Given the description of an element on the screen output the (x, y) to click on. 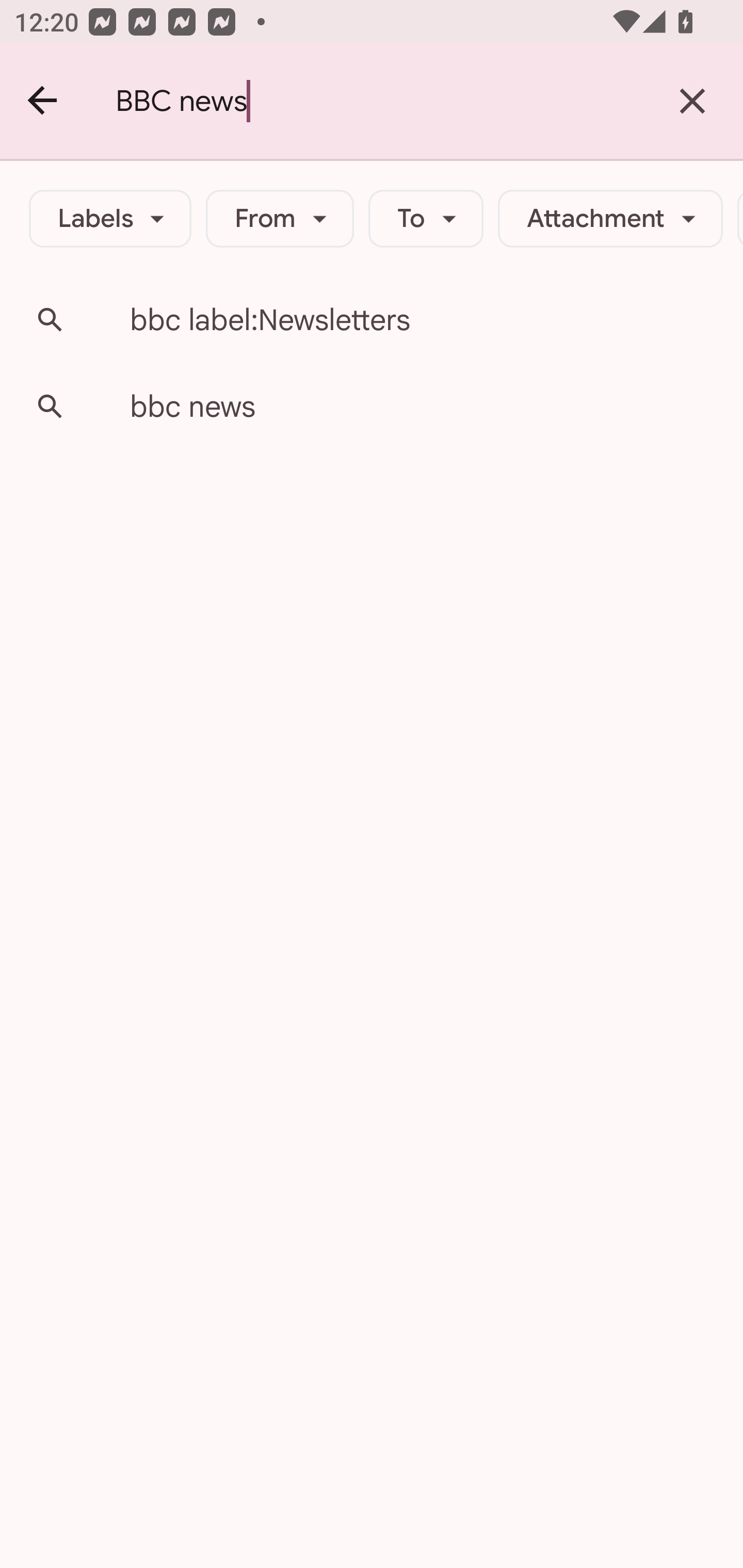
Back (43, 101)
BBC news (378, 101)
Clear text (692, 101)
Labels (109, 218)
From (279, 218)
To (425, 218)
Attachment (609, 218)
bbc news Suggestion: bbc news (371, 406)
